Given the description of an element on the screen output the (x, y) to click on. 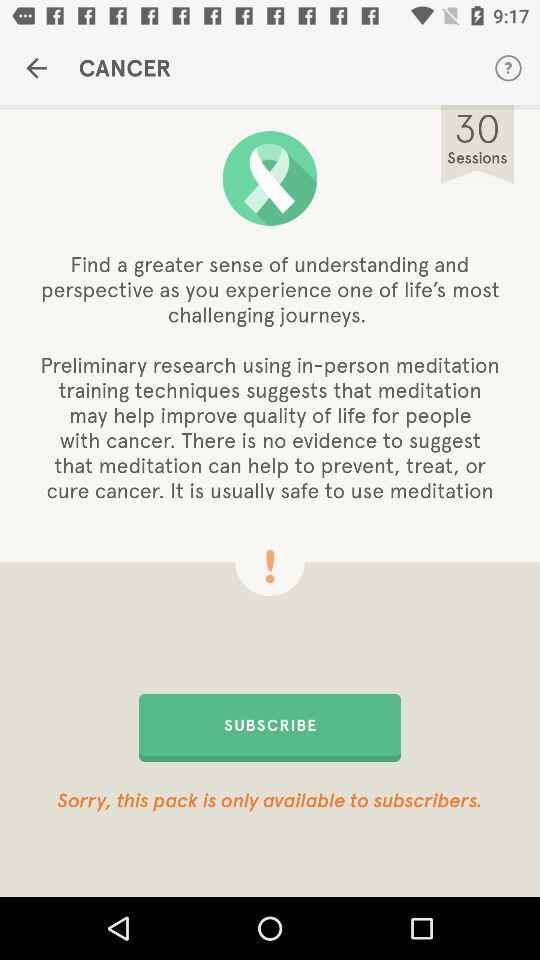
flip until the subscribe icon (269, 727)
